Given the description of an element on the screen output the (x, y) to click on. 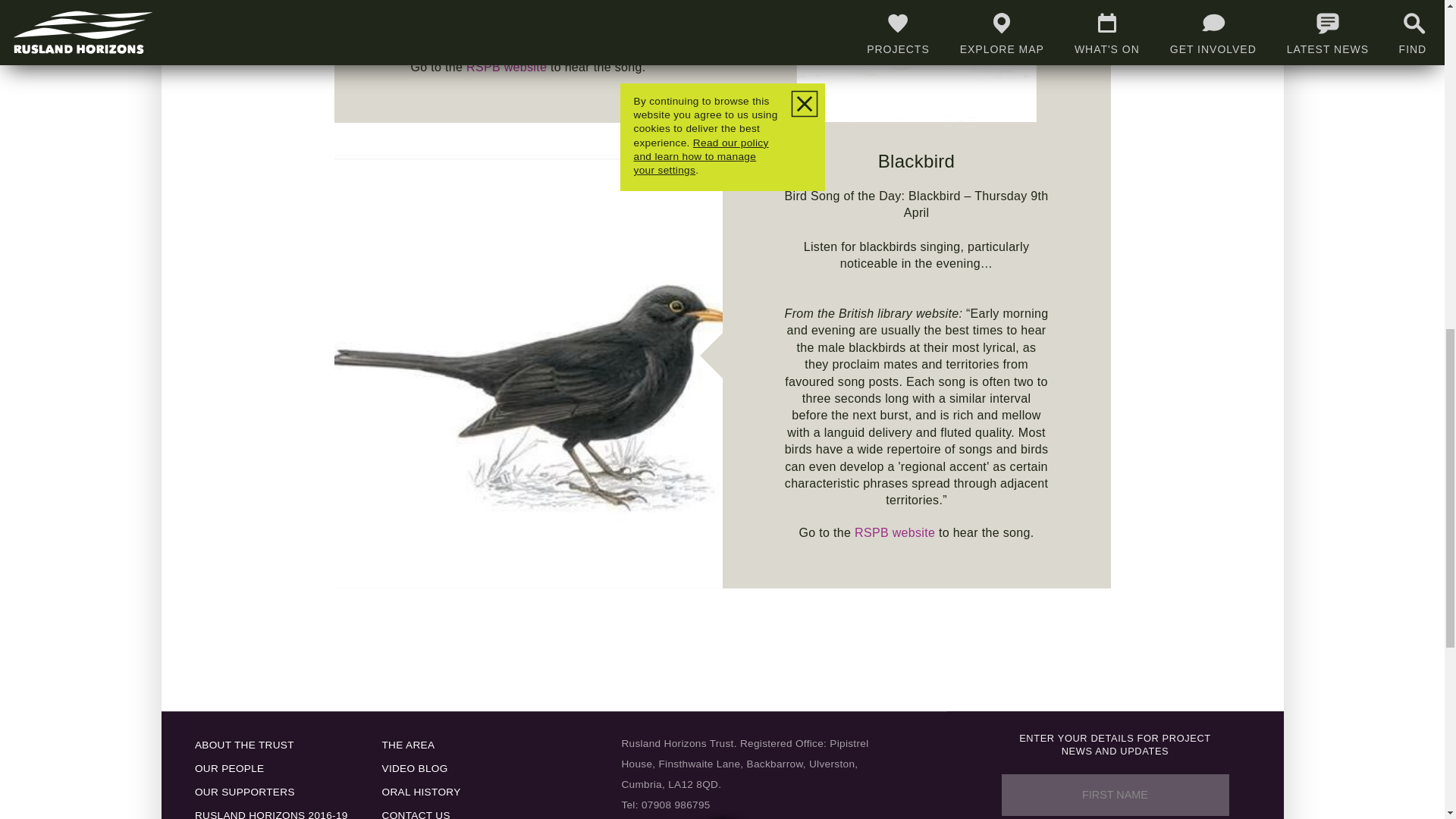
RUSLAND HORIZONS 2016-19 (271, 811)
OUR SUPPORTERS (271, 791)
RSPB website (506, 66)
ABOUT THE TRUST (271, 744)
THE AREA (450, 744)
VIDEO BLOG (450, 768)
RSPB website (894, 532)
OUR PEOPLE (271, 768)
ORAL HISTORY (450, 791)
CONTACT US (450, 811)
